Given the description of an element on the screen output the (x, y) to click on. 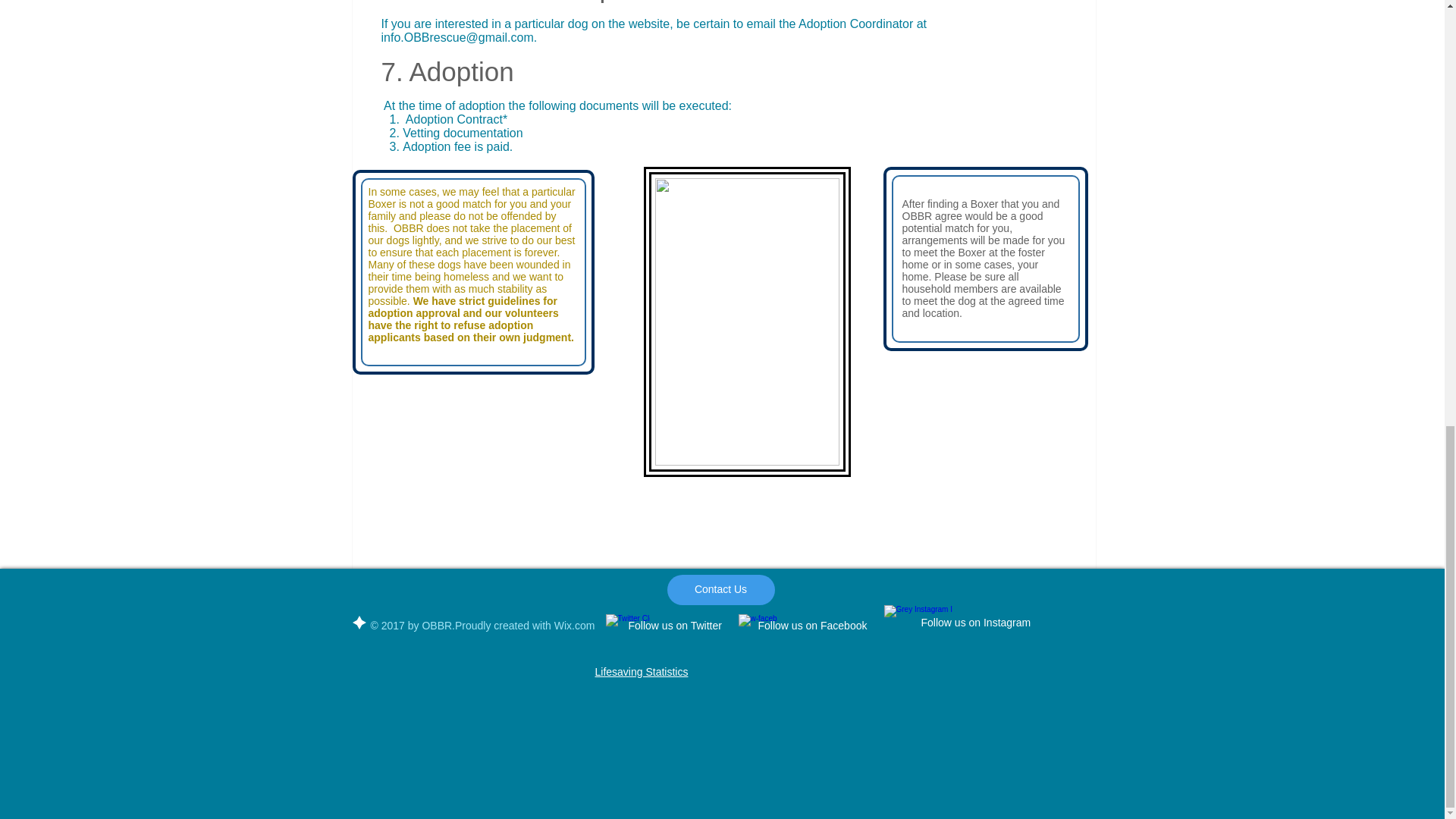
Contact Us (720, 589)
Lifesaving Statistics (640, 671)
Wix.com (574, 625)
